Given the description of an element on the screen output the (x, y) to click on. 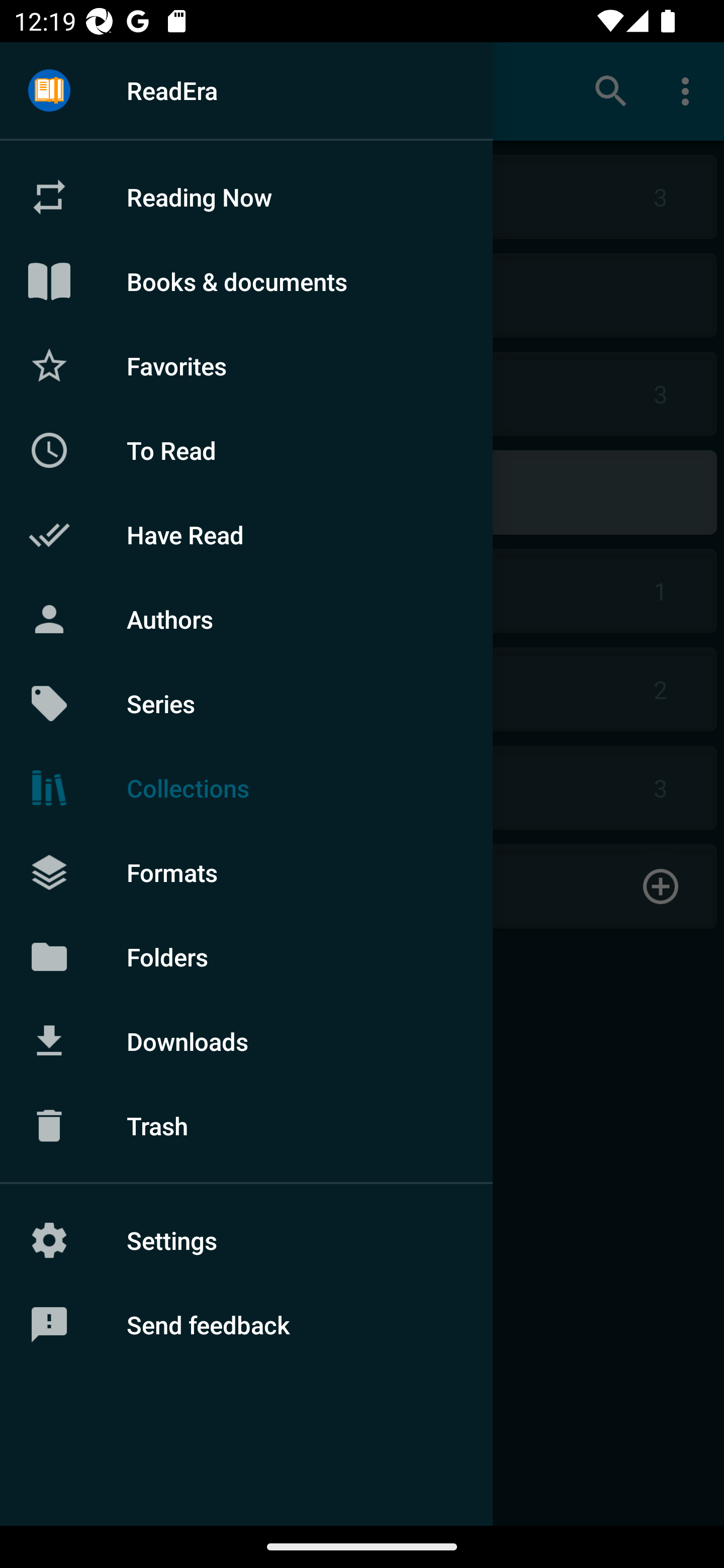
Menu (49, 91)
ReadEra (246, 89)
Search books & documents (611, 90)
More options (688, 90)
Reading Now (246, 197)
Books & documents (246, 281)
Favorites (246, 365)
To Read (246, 449)
Have Read (246, 534)
Authors (246, 619)
Series (246, 703)
Sci-fi 3 (361, 787)
Create new collection (361, 885)
Folders (246, 956)
Downloads (246, 1040)
Trash (246, 1125)
Settings (246, 1239)
Send feedback (246, 1324)
